Given the description of an element on the screen output the (x, y) to click on. 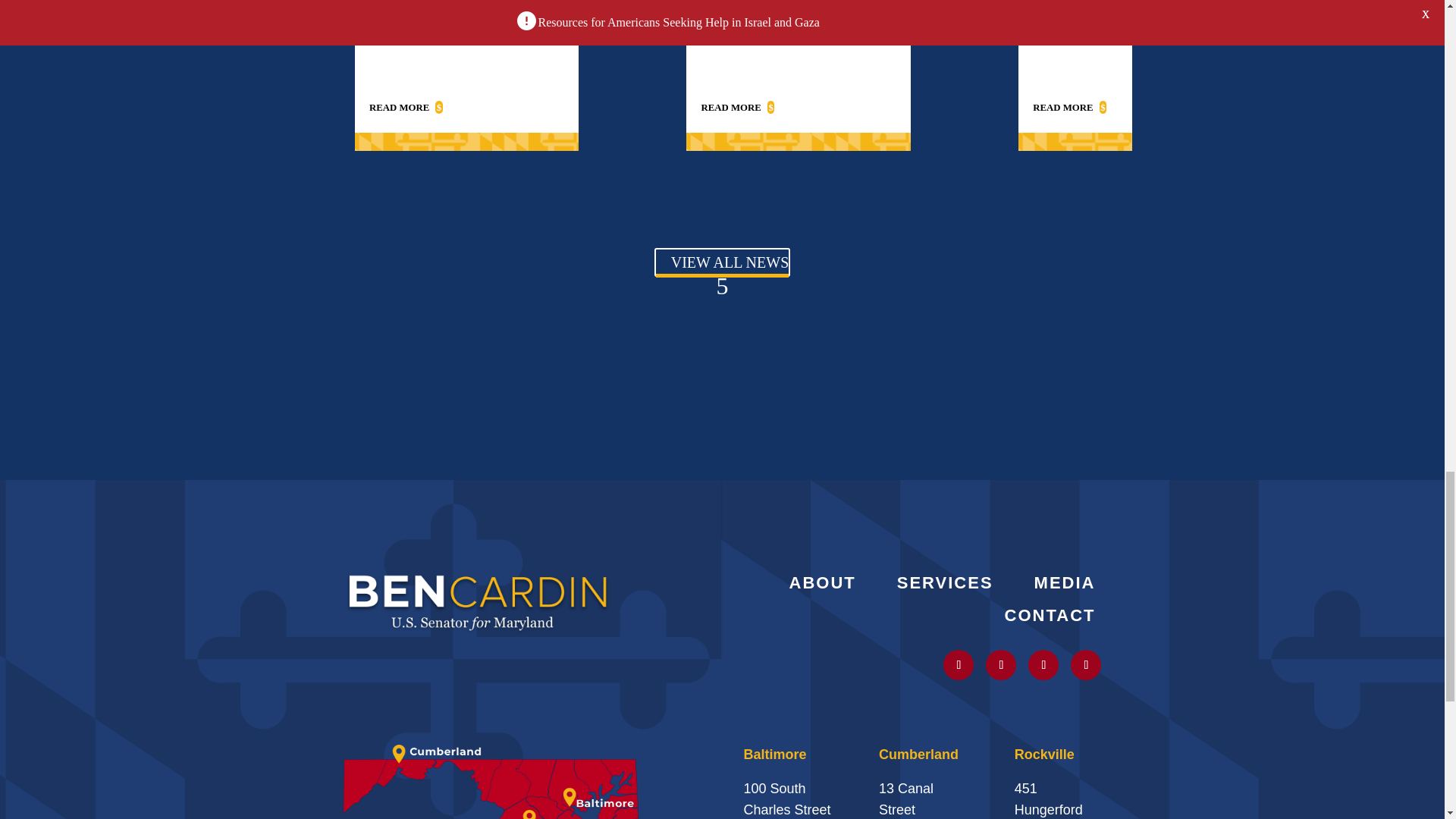
Follow on Facebook (1085, 665)
Footer (478, 600)
Follow on Youtube (1042, 665)
Follow on X (958, 665)
Follow on Instagram (1000, 665)
